Given the description of an element on the screen output the (x, y) to click on. 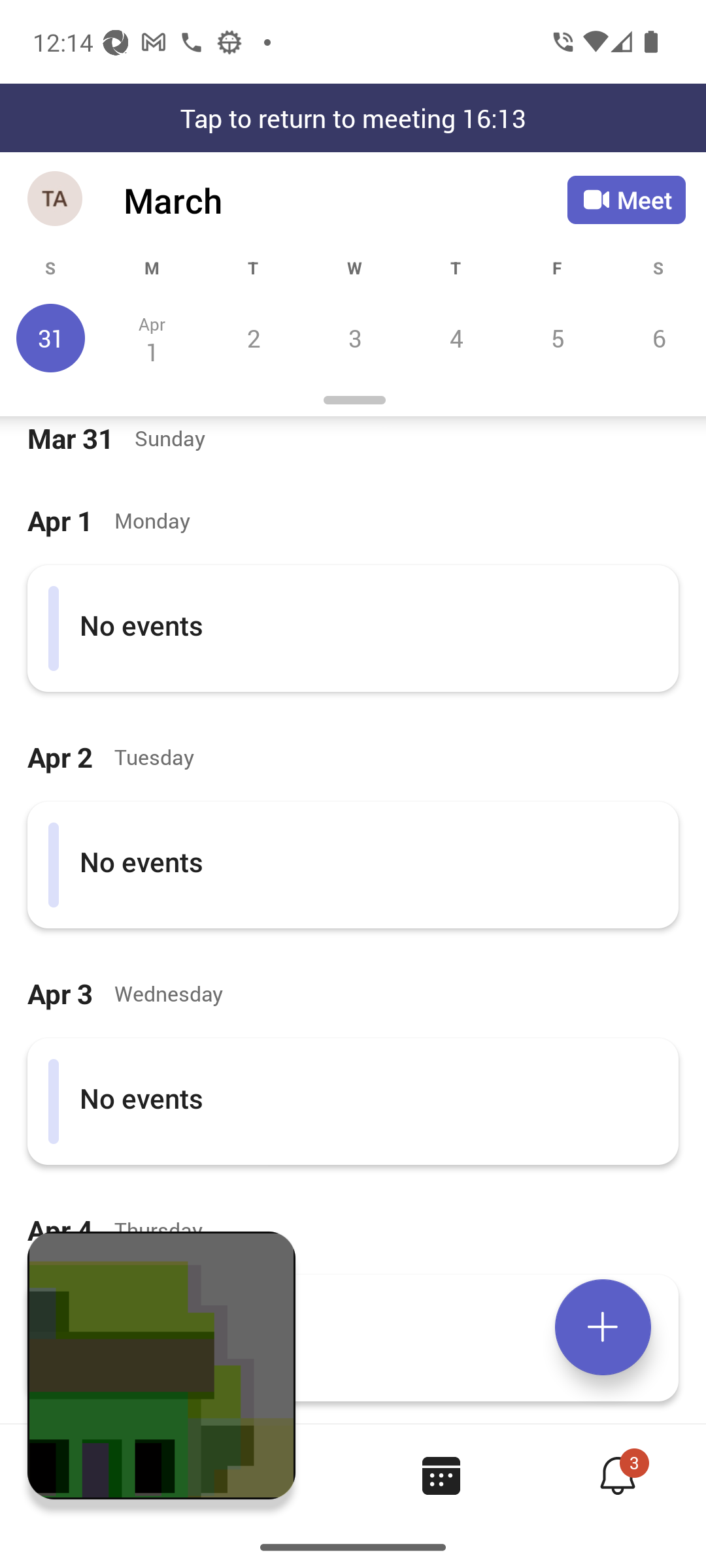
Tap to return to meeting 16:13 (353, 117)
Navigation (56, 199)
Meet Meet now or join with an ID (626, 199)
March March Calendar Agenda View (345, 199)
Sunday, March 31, Selected 31 (50, 337)
Monday, April 1 Apr 1 (151, 337)
Tuesday, April 2 2 (253, 337)
Wednesday, April 3 3 (354, 337)
Thursday, April 4 4 (455, 337)
Friday, April 5 5 (556, 337)
Saturday, April 6 6 (656, 337)
Expand meetings menu (602, 1327)
Calendar tab, 3 of 4 (441, 1475)
Activity tab,4 of 4, not selected, 3 new 3 (617, 1475)
